Given the description of an element on the screen output the (x, y) to click on. 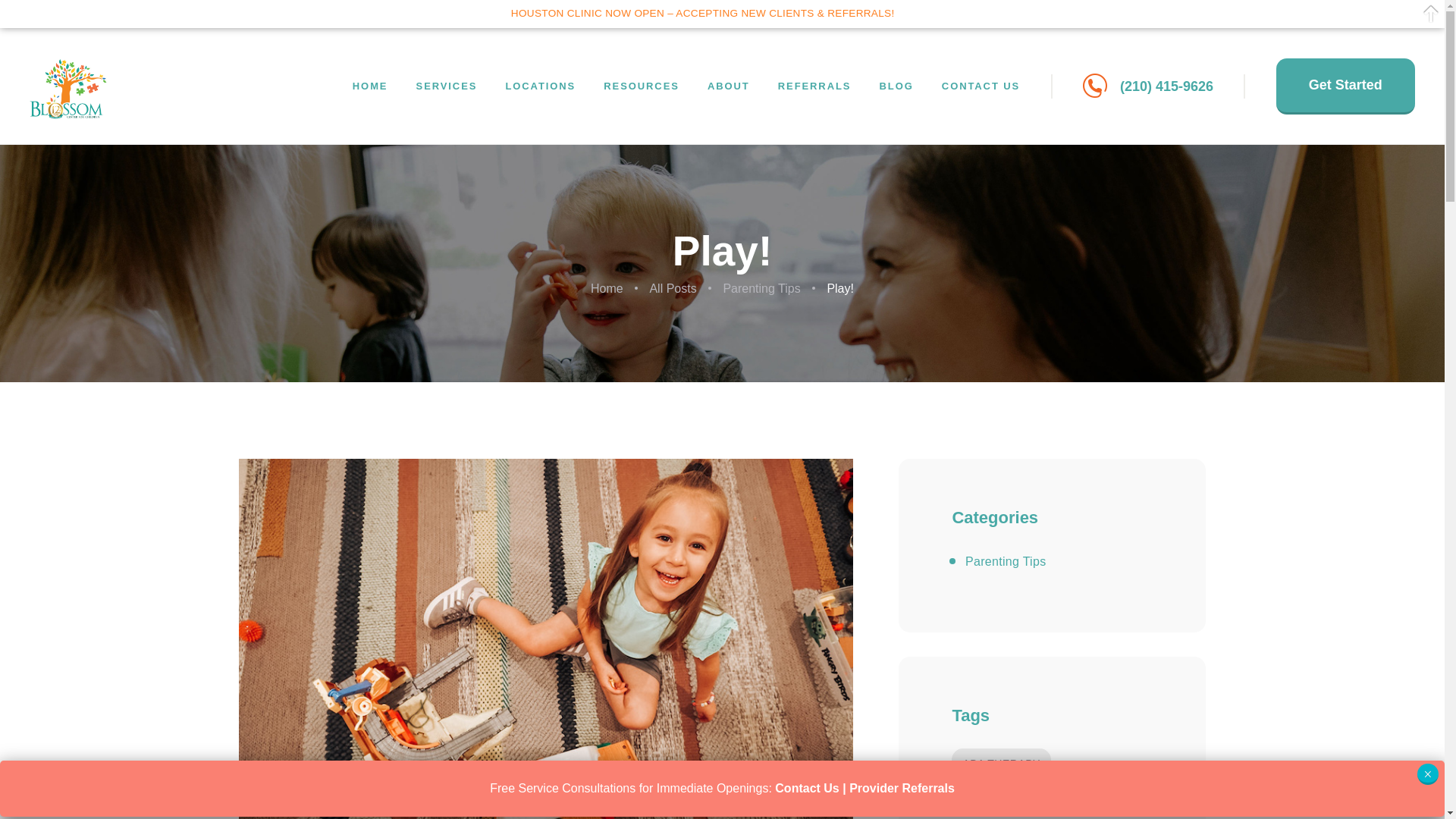
All Posts (672, 287)
Get Started (1345, 86)
ABOUT (727, 86)
REFERRALS (813, 86)
HOME (369, 86)
BLOG (895, 86)
LOCATIONS (540, 86)
Home (607, 288)
RESOURCES (641, 86)
SERVICES (446, 86)
CONTACT US (980, 86)
Parenting Tips (760, 288)
